Given the description of an element on the screen output the (x, y) to click on. 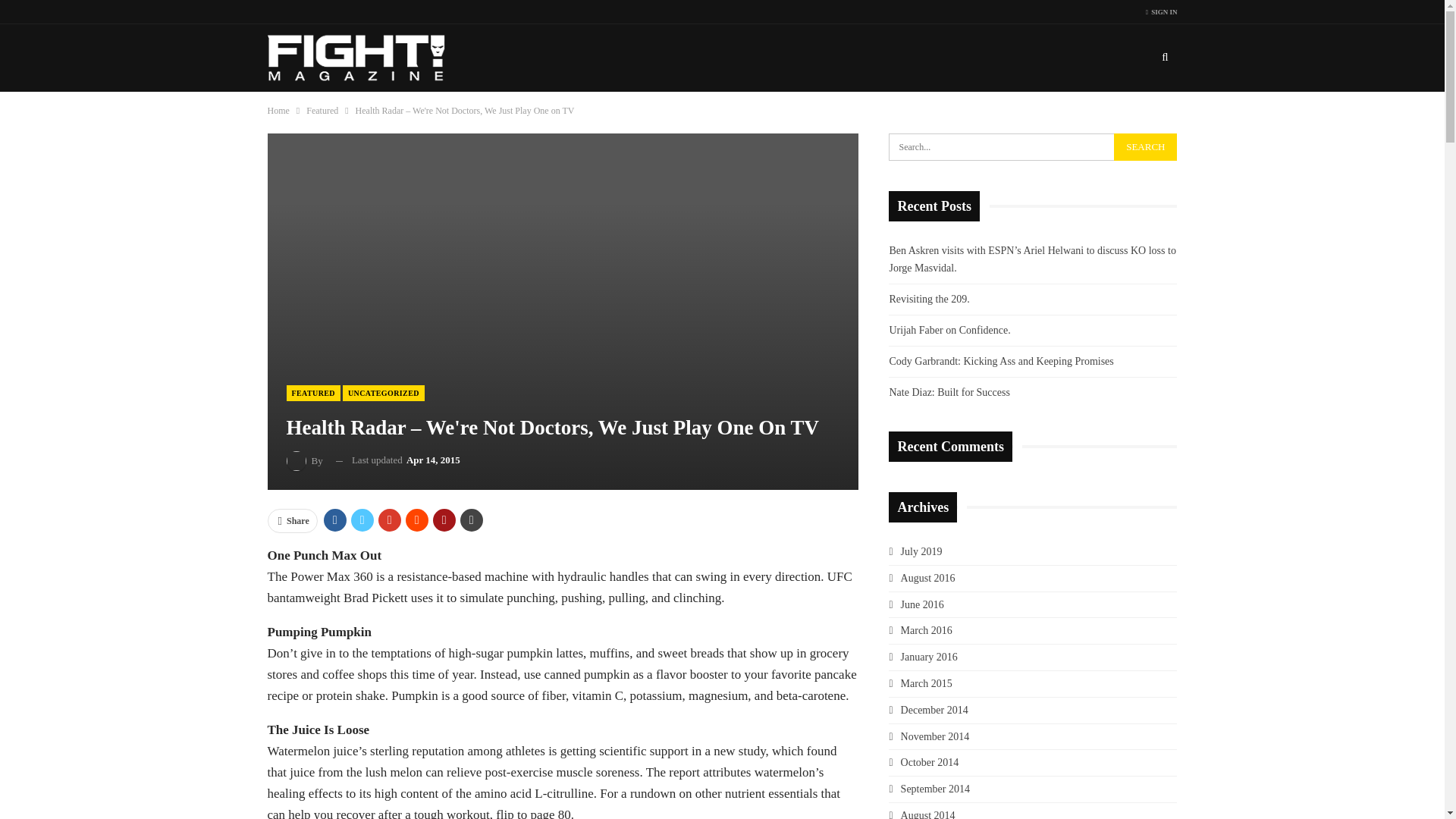
By (305, 460)
Featured (321, 110)
SIGN IN (1161, 12)
UNCATEGORIZED (383, 392)
FEATURED (313, 392)
Search (1144, 146)
Search (1144, 146)
Home (277, 110)
Browse Author Articles (305, 460)
